Given the description of an element on the screen output the (x, y) to click on. 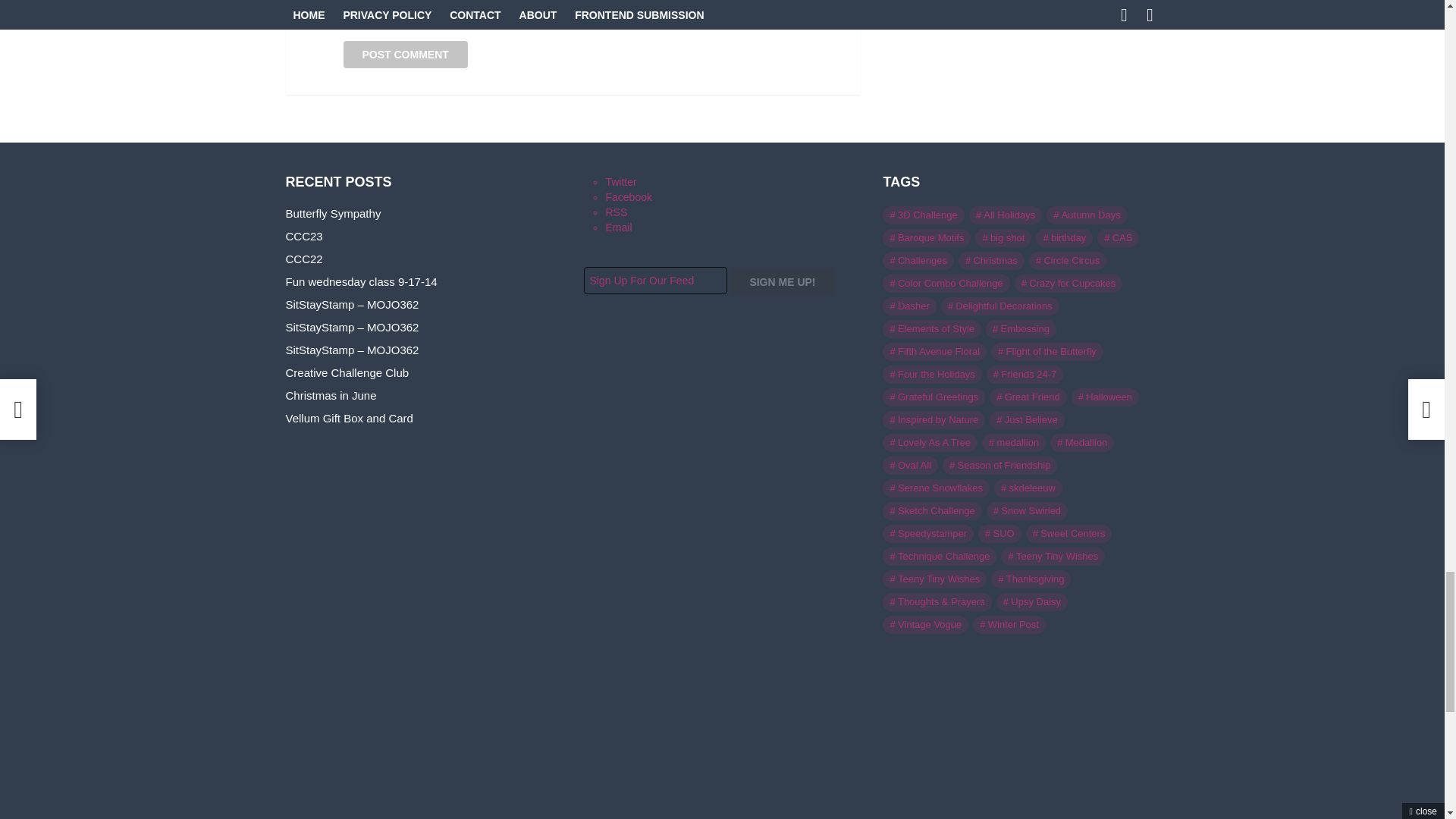
yes (347, 17)
Sign Me Up! (782, 281)
Post Comment (404, 53)
Sign Up For Our Feed (654, 280)
